Given the description of an element on the screen output the (x, y) to click on. 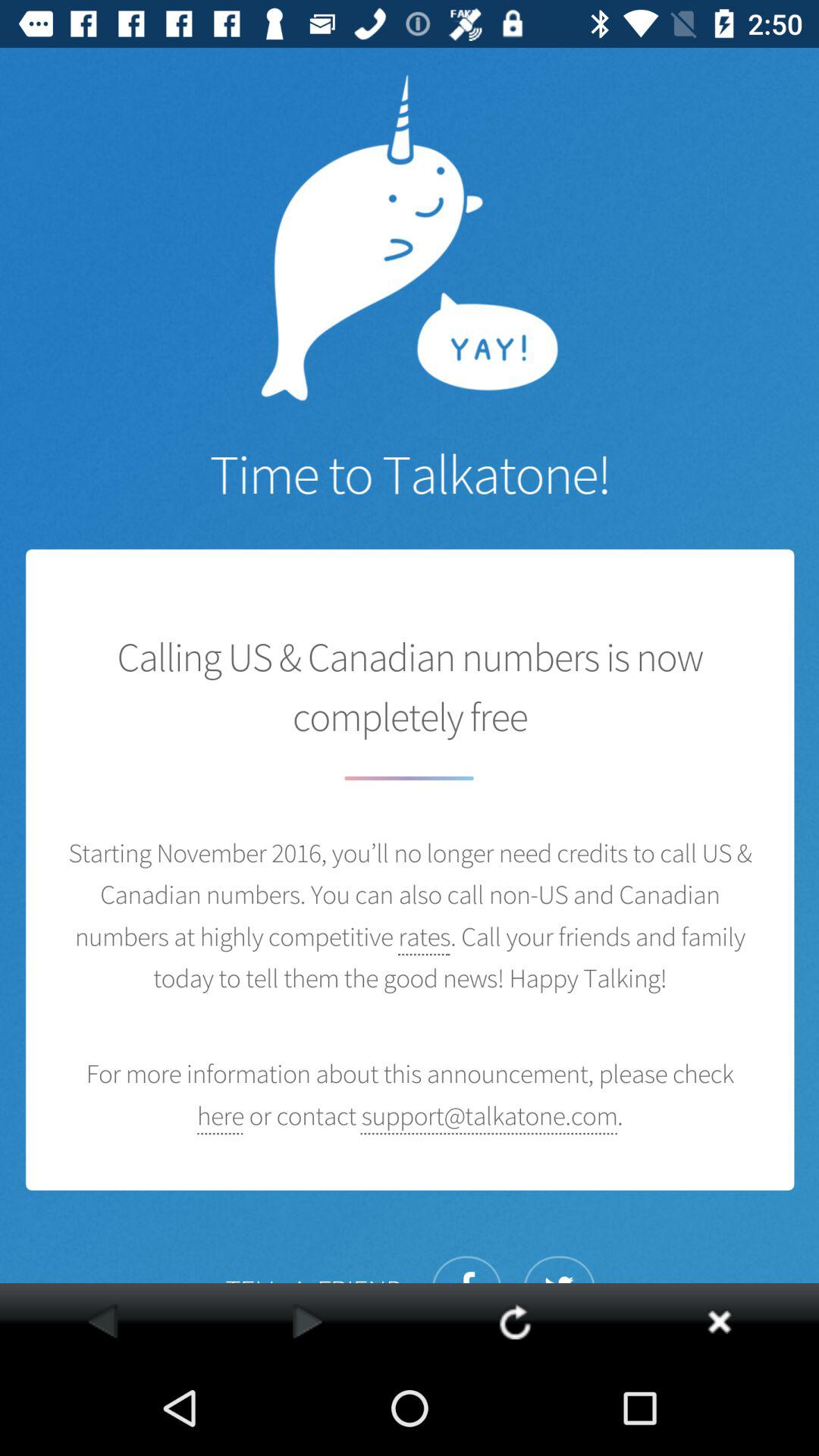
next (307, 1321)
